Given the description of an element on the screen output the (x, y) to click on. 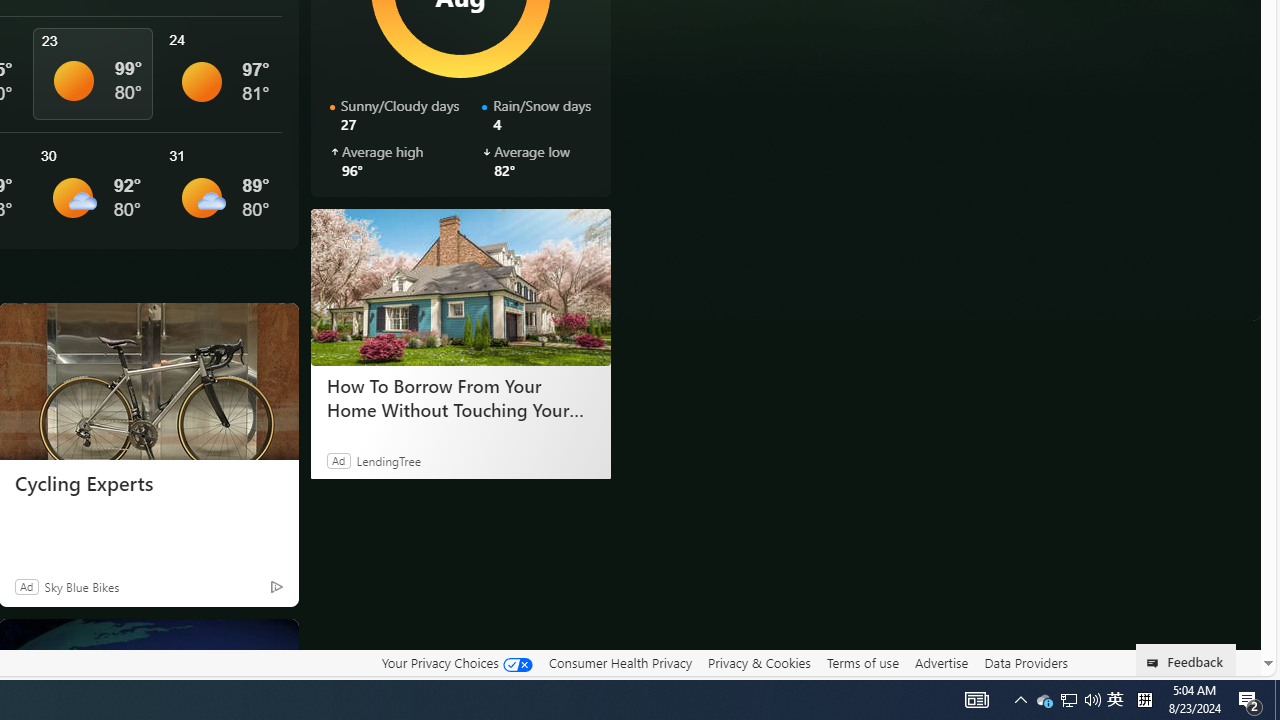
Consumer Health Privacy (619, 663)
Privacy & Cookies (759, 662)
Sky Blue Bikes (81, 586)
Privacy & Cookies (759, 663)
Data Providers (1025, 663)
Data Providers (1025, 662)
